Given the description of an element on the screen output the (x, y) to click on. 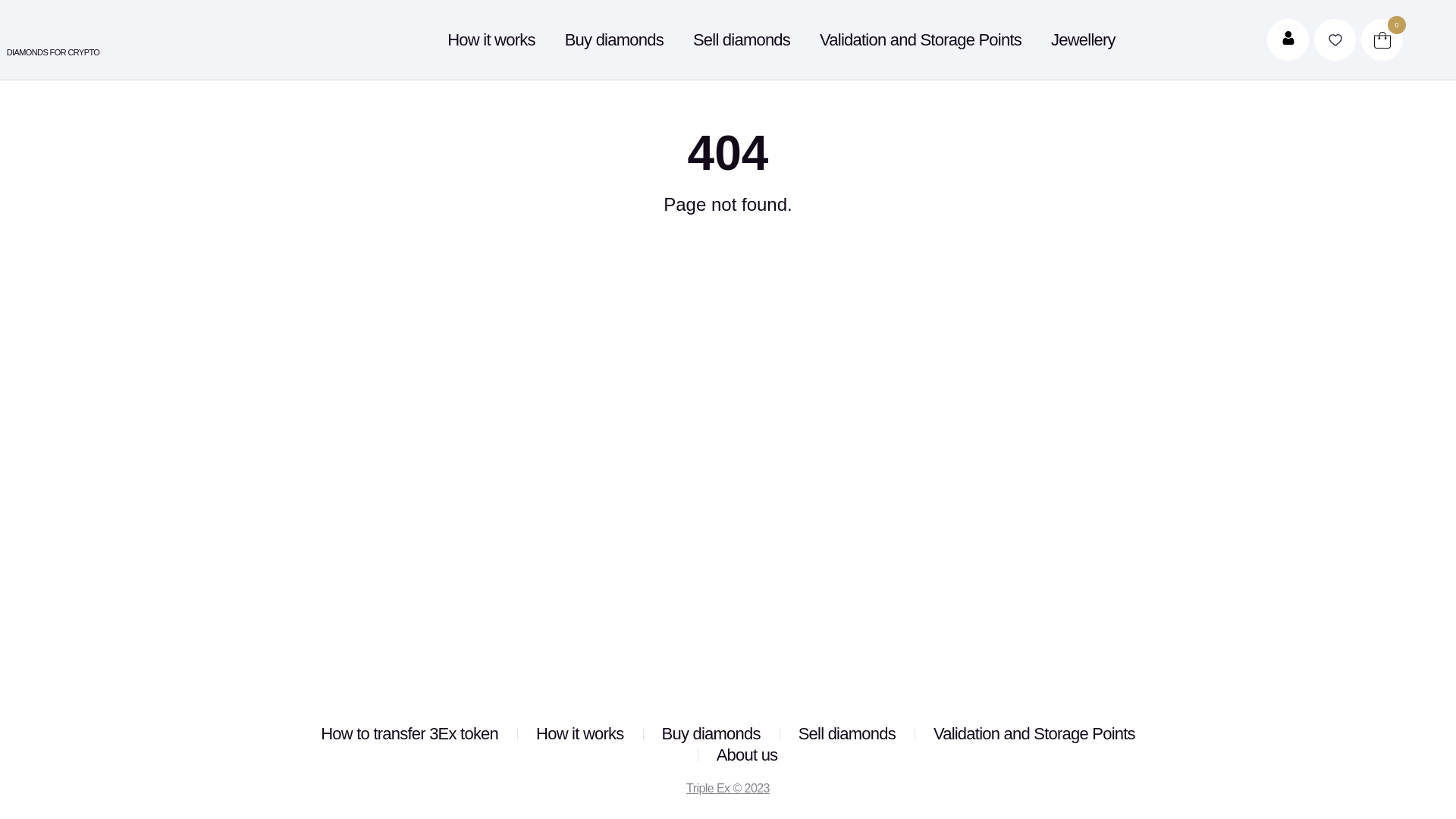
How it works Element type: text (579, 733)
Validation and Storage Points Element type: text (1034, 733)
Sell diamonds Element type: text (741, 39)
How to transfer 3Ex token Element type: text (409, 733)
Buy diamonds Element type: text (711, 733)
0 Element type: text (1381, 39)
Jewellery Element type: text (1083, 39)
Buy diamonds Element type: text (613, 39)
How it works Element type: text (490, 39)
About us Element type: text (747, 754)
Validation and Storage Points Element type: text (920, 39)
Sell diamonds Element type: text (846, 733)
